Given the description of an element on the screen output the (x, y) to click on. 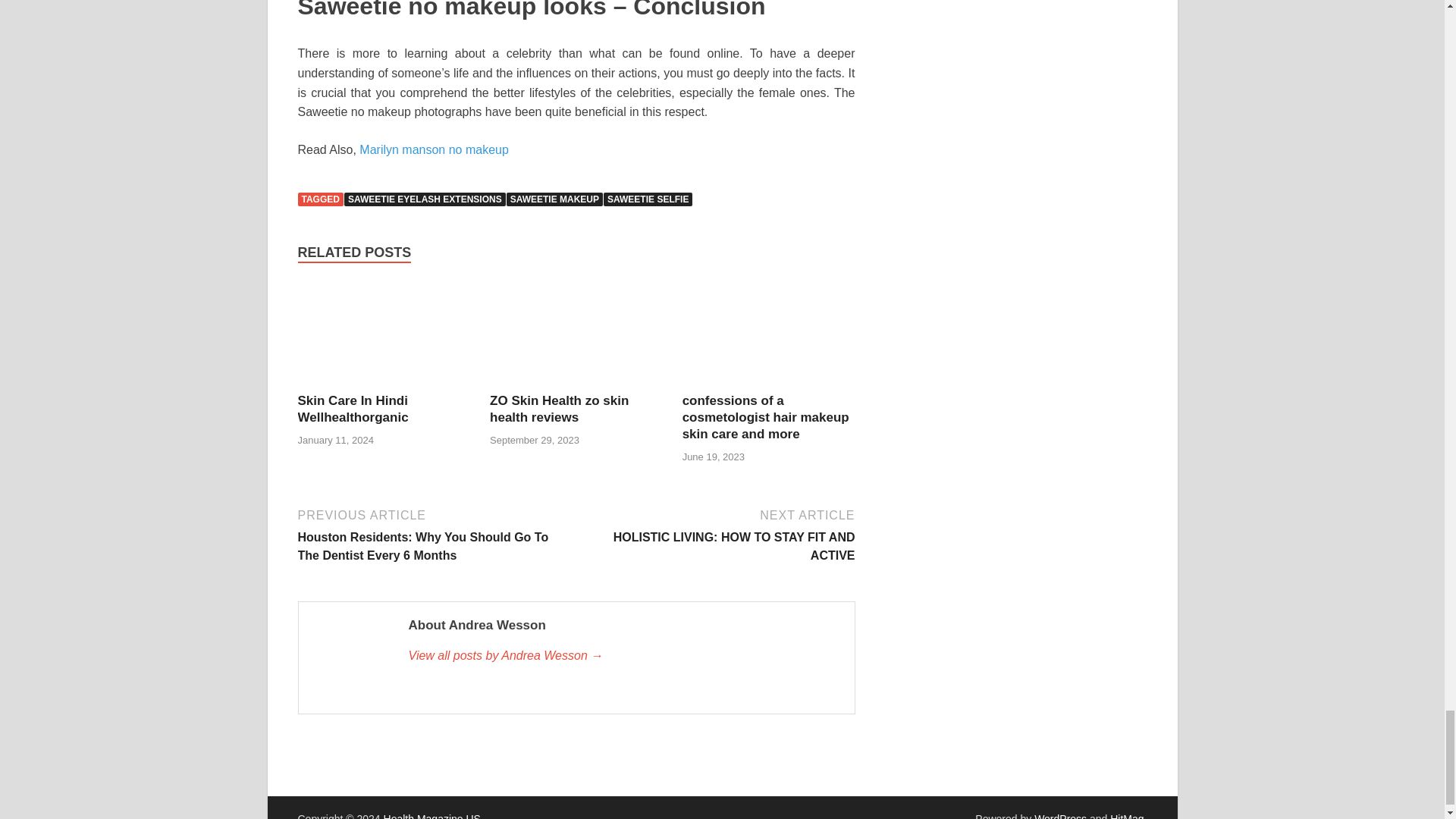
ZO Skin Health zo skin health reviews (575, 336)
Skin Care In Hindi Wellhealthorganic (383, 336)
Skin Care In Hindi Wellhealthorganic (352, 409)
Andrea Wesson (622, 656)
ZO Skin Health zo skin health reviews (558, 409)
